Given the description of an element on the screen output the (x, y) to click on. 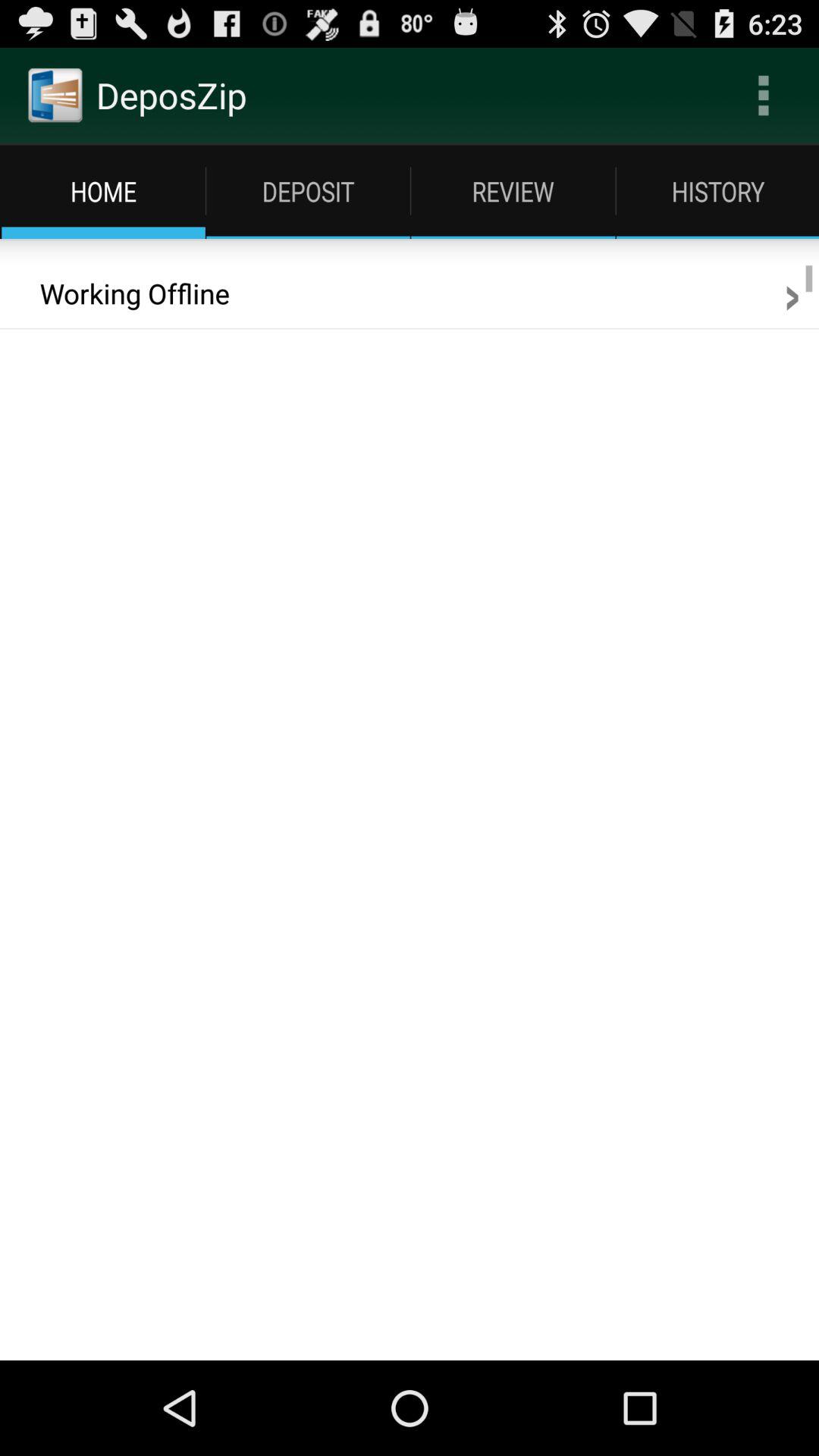
choose the item above the history icon (763, 95)
